Given the description of an element on the screen output the (x, y) to click on. 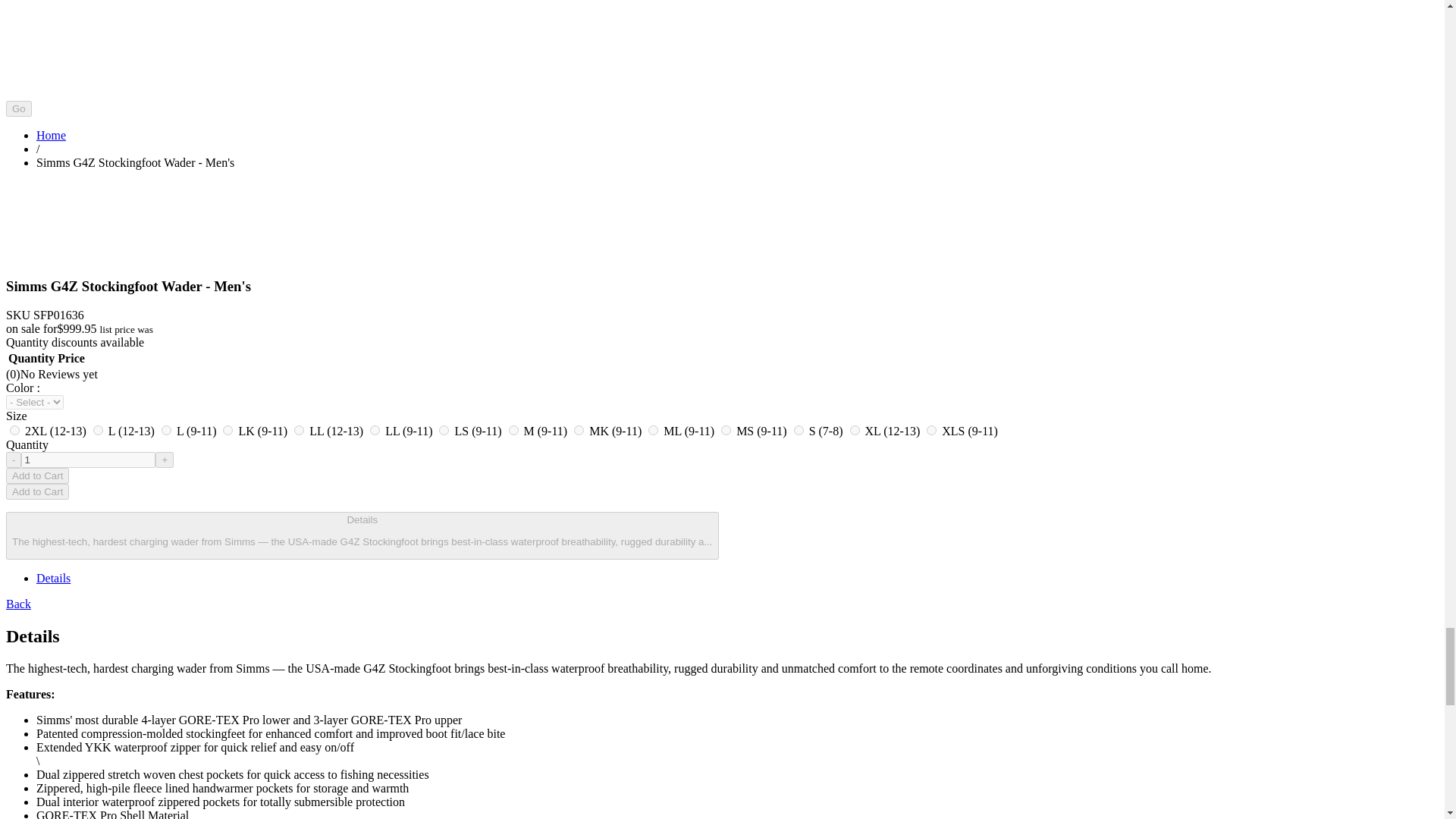
181 (443, 429)
197 (855, 429)
1 (88, 459)
104 (98, 429)
97 (652, 429)
54 (513, 429)
84 (578, 429)
167 (374, 429)
100 (725, 429)
6449 (931, 429)
15 (798, 429)
155 (227, 429)
109 (166, 429)
166 (299, 429)
1587 (15, 429)
